Given the description of an element on the screen output the (x, y) to click on. 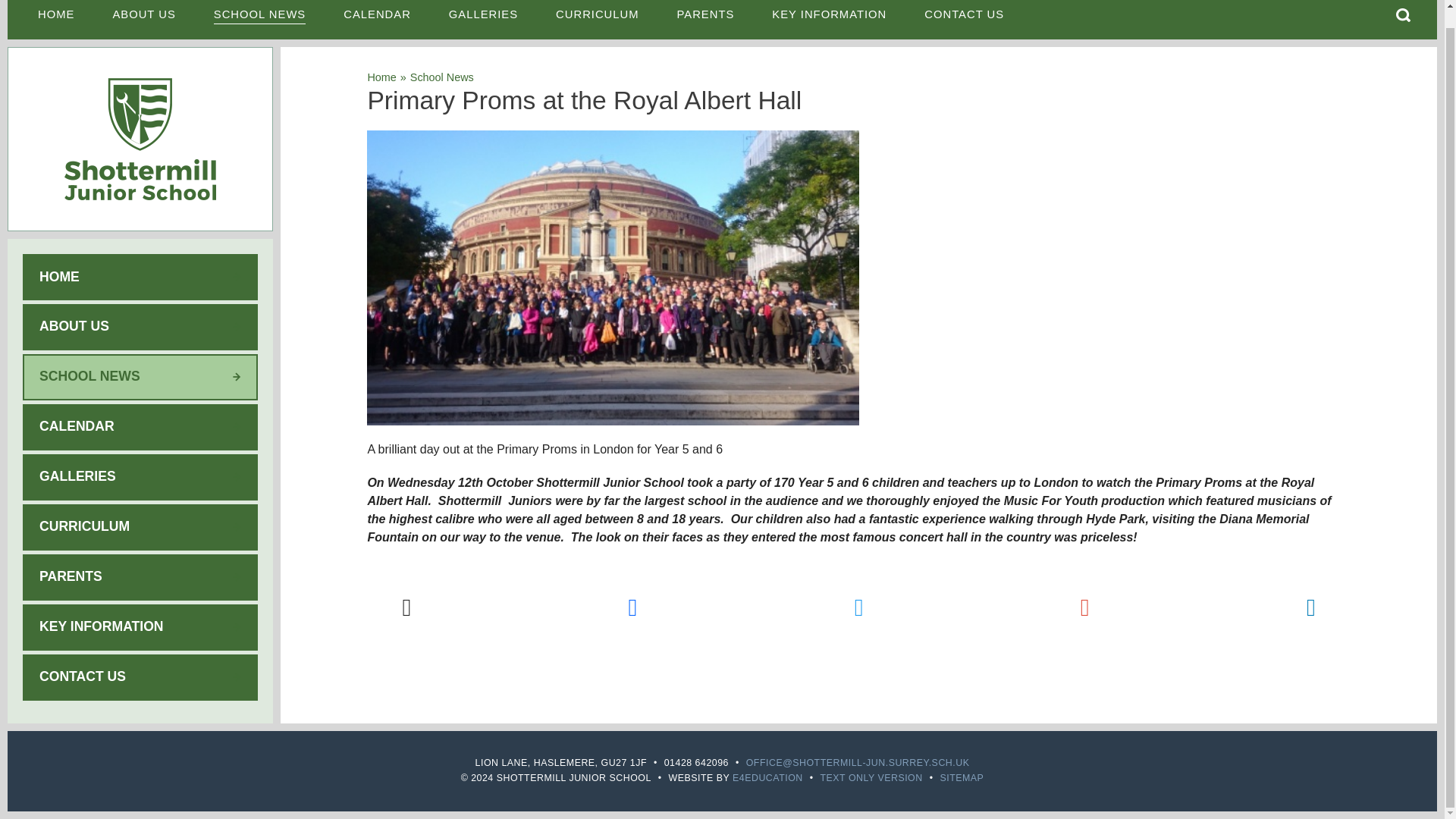
CURRICULUM (597, 19)
ABOUT US (143, 19)
GALLERIES (483, 19)
CALENDAR (376, 19)
HOME (55, 19)
SCHOOL NEWS (259, 19)
